Given the description of an element on the screen output the (x, y) to click on. 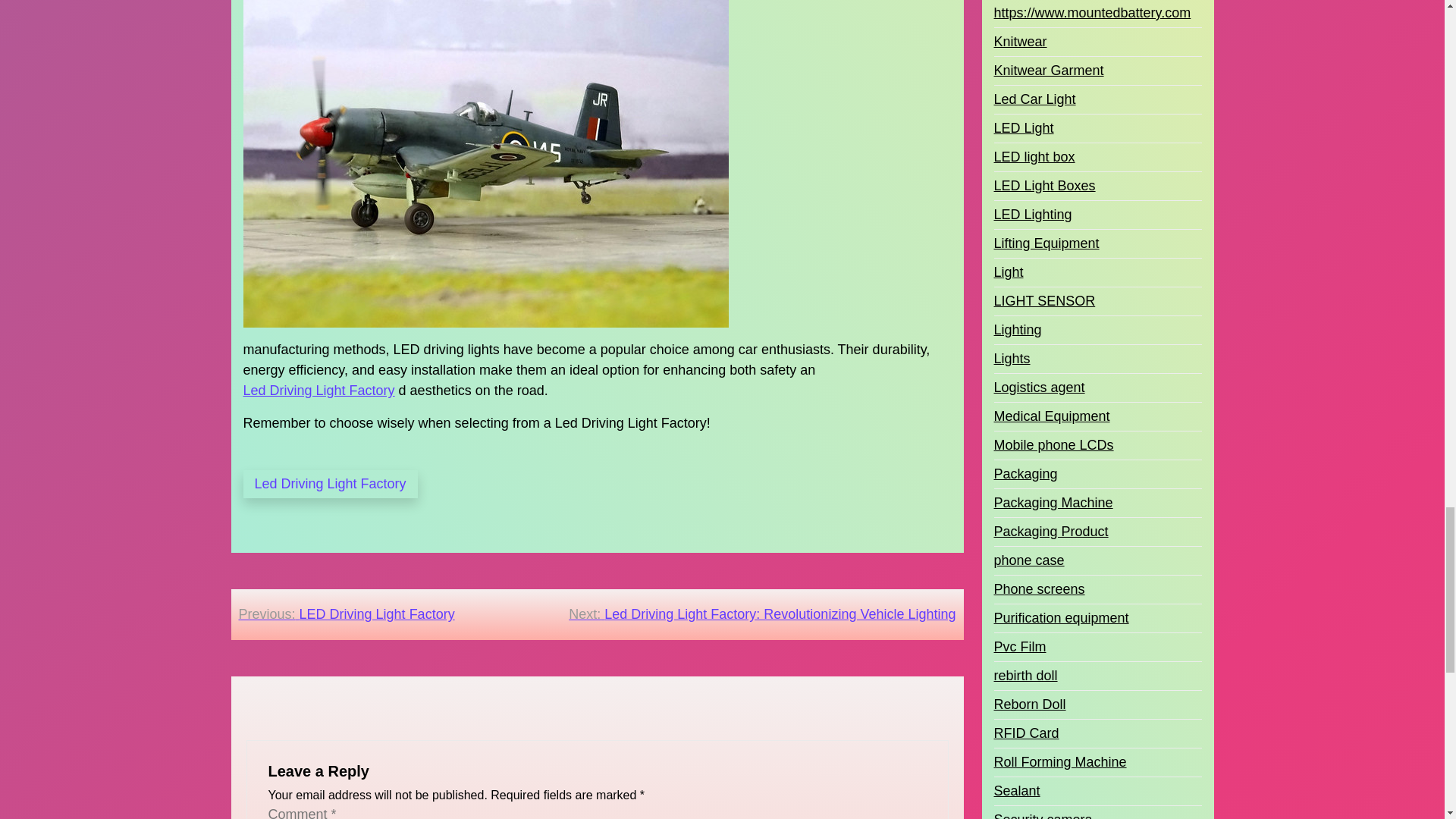
Led Driving Light Factory (318, 390)
Previous: LED Driving Light Factory (346, 614)
Led Driving Light Factory (329, 483)
